Given the description of an element on the screen output the (x, y) to click on. 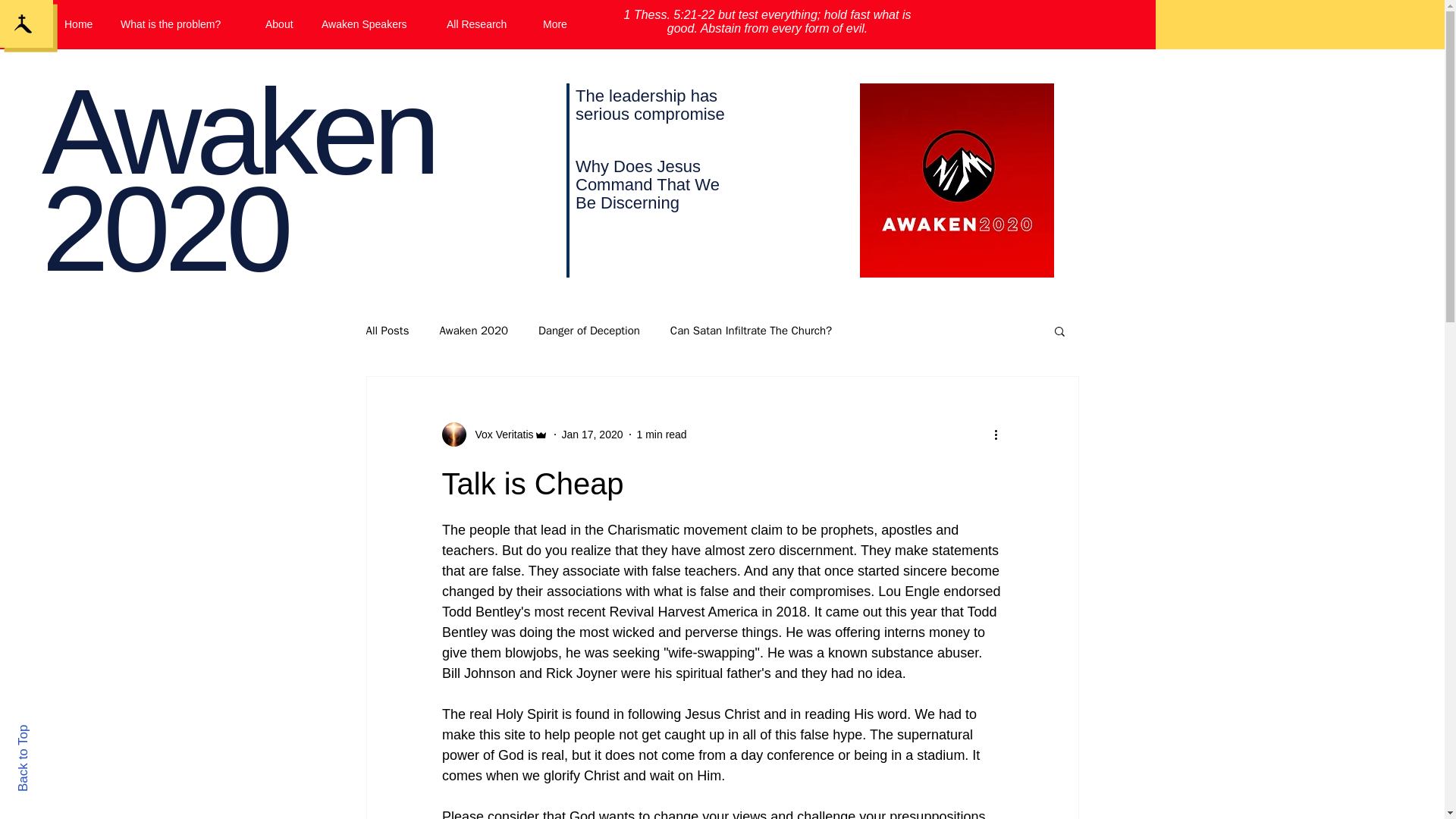
All Posts (387, 329)
Vox Veritatis (494, 434)
Can Satan Infiltrate The Church? (750, 329)
What is the problem? (181, 24)
1 min read (662, 433)
Awaken 2020 (237, 179)
All Research (483, 24)
Jan 17, 2020 (592, 433)
Danger of Deception (589, 329)
About (281, 24)
Awaken Speakers (372, 24)
Awaken 2020 (473, 329)
 Vox Veritatis (498, 433)
Home (80, 24)
